Given the description of an element on the screen output the (x, y) to click on. 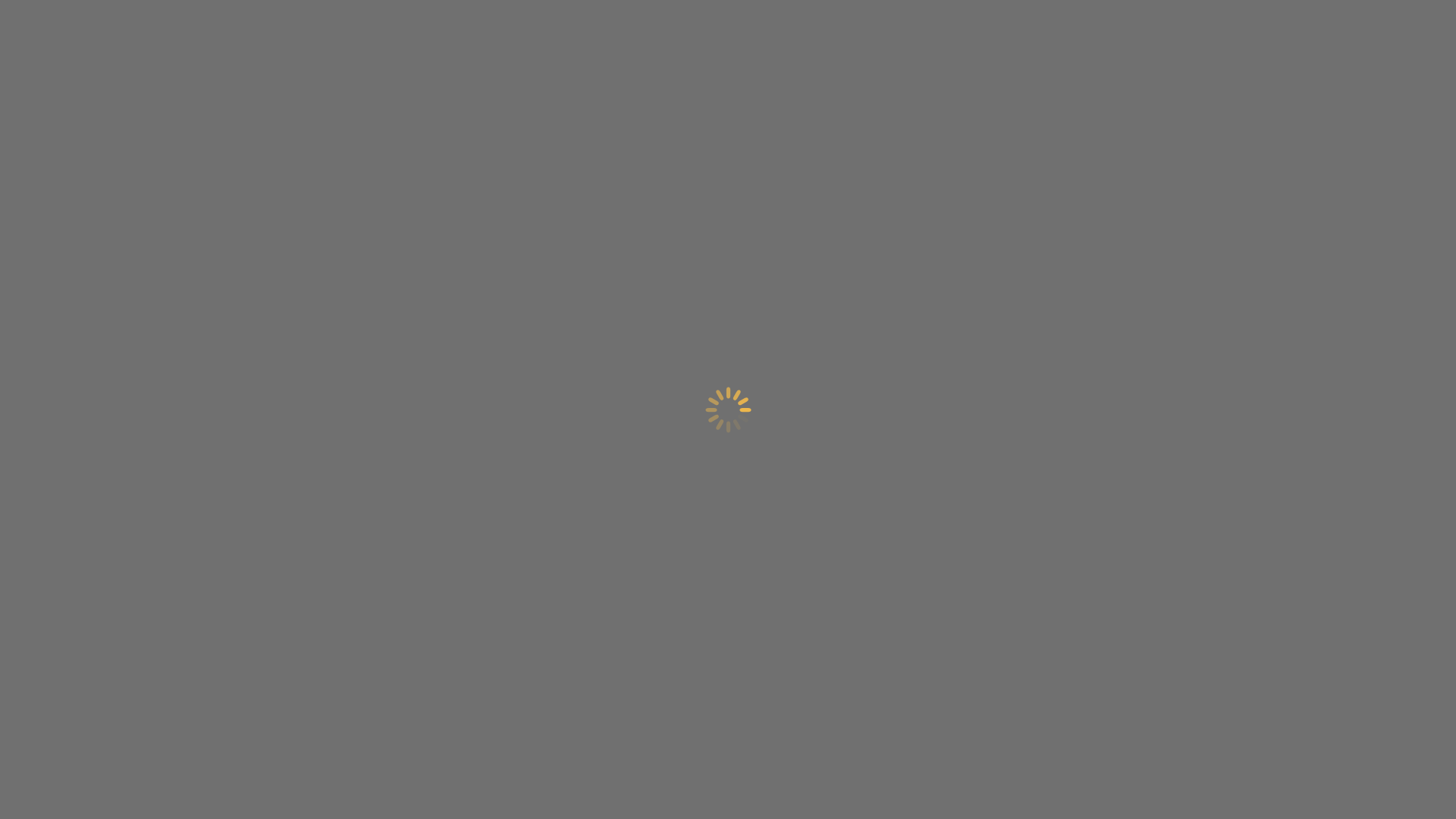
Konfigurator Element type: text (1022, 402)
biuro@13shine.com Element type: text (1150, 49)
+48 790 131 313 Element type: text (1288, 394)
Cennik Element type: text (820, 421)
Cennik Element type: text (1022, 421)
Realizacje Element type: text (820, 441)
Instagram page opens in new window Element type: hover (1253, 48)
Realizacje Element type: text (1022, 441)
+48 790 131 313 Element type: text (1040, 49)
Konfigurator Element type: text (820, 402)
biuro@13shine.com Element type: text (1288, 418)
Facebook page opens in new window Element type: hover (1229, 48)
